Given the description of an element on the screen output the (x, y) to click on. 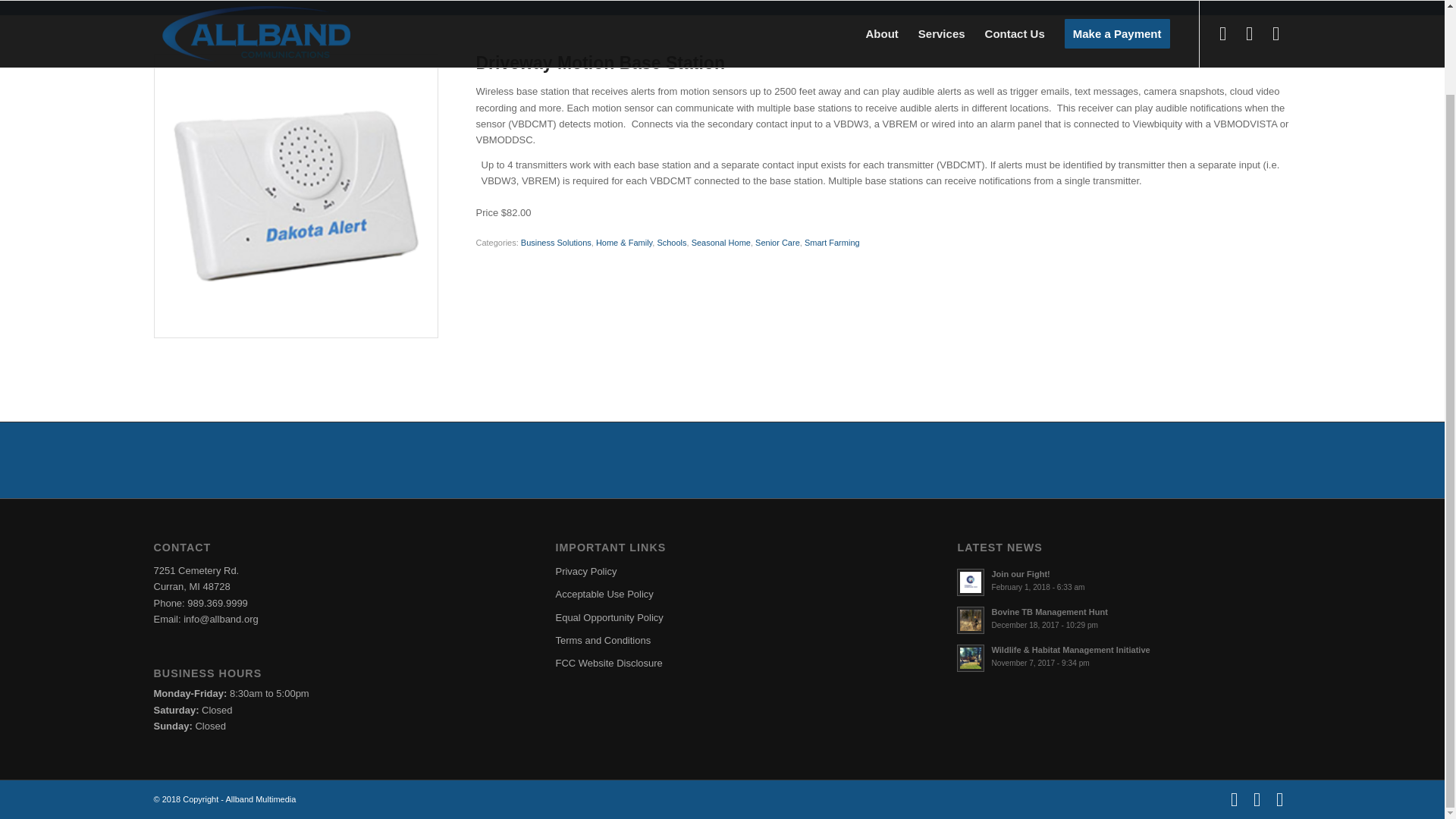
Mail (1279, 798)
Read: Bovine TB Management Hunt (970, 619)
Business Solutions (556, 242)
Facebook (1233, 798)
Read: Join our Fight! (1020, 573)
Read: Bovine TB Management Hunt (1048, 611)
Seasonal Home (721, 242)
Schools (670, 242)
LinkedIn (1256, 798)
Read: Join our Fight! (970, 582)
Senior Care (777, 242)
Smart Farming (832, 242)
